Given the description of an element on the screen output the (x, y) to click on. 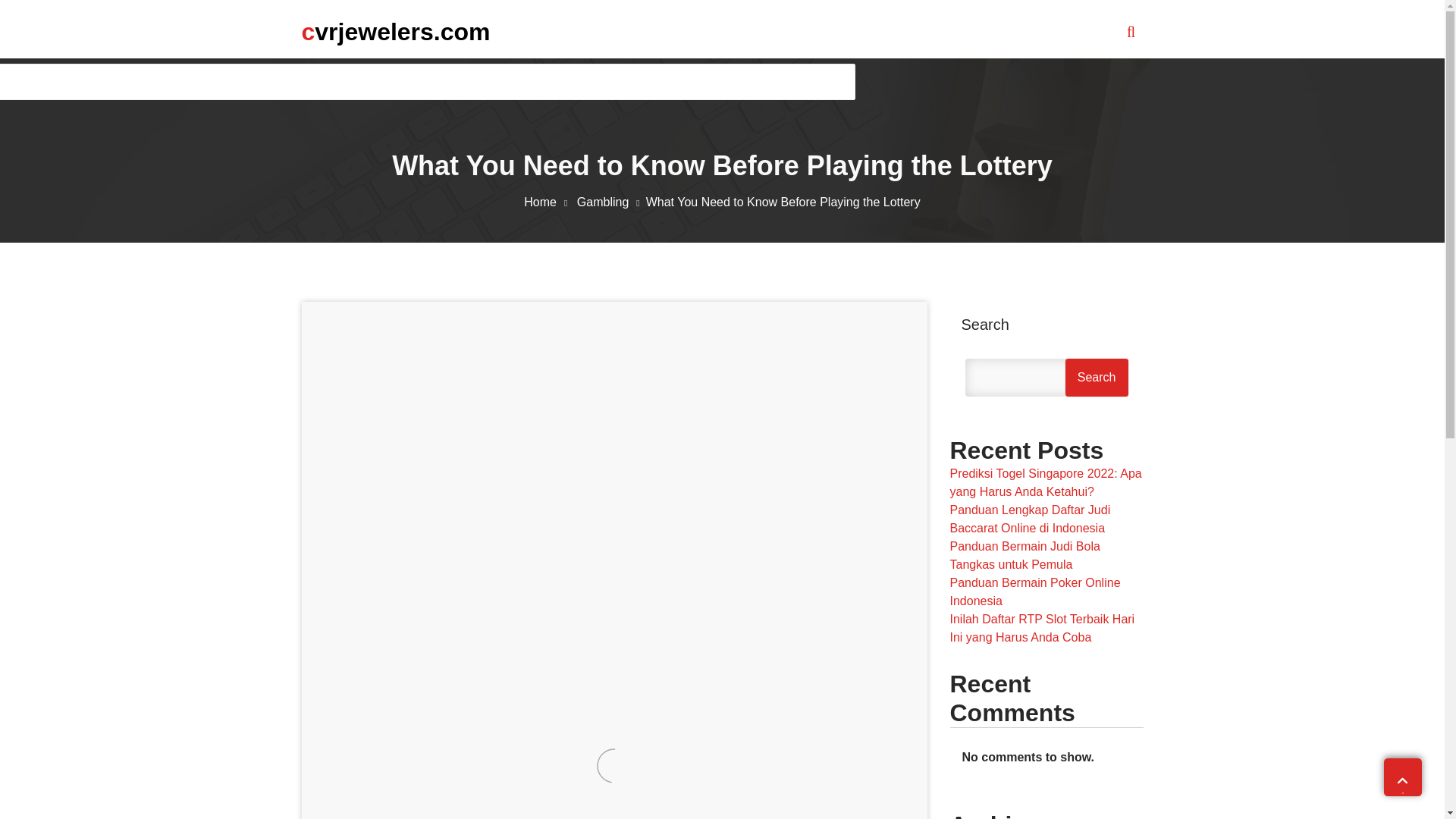
cvrjewelers.com (395, 31)
Panduan Lengkap Daftar Judi Baccarat Online di Indonesia (1029, 518)
Prediksi Togel Singapore 2022: Apa yang Harus Anda Ketahui? (1045, 481)
Inilah Daftar RTP Slot Terbaik Hari Ini yang Harus Anda Coba (1041, 627)
Home (548, 201)
Search (1096, 377)
Panduan Bermain Judi Bola Tangkas untuk Pemula (1024, 554)
Panduan Bermain Poker Online Indonesia (1034, 591)
Gambling (611, 201)
